Given the description of an element on the screen output the (x, y) to click on. 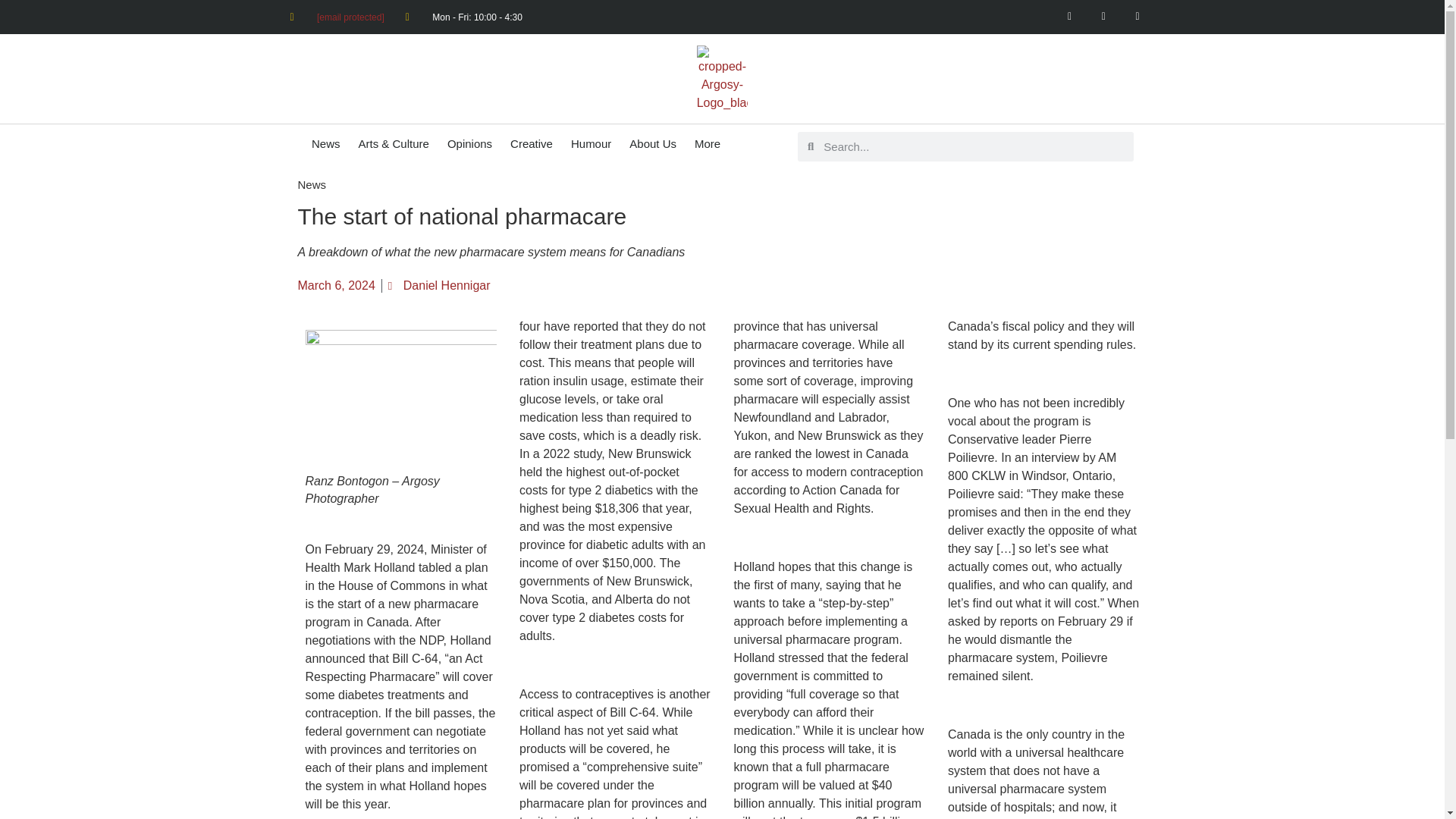
Humour (591, 143)
News (325, 143)
More (707, 143)
Daniel Hennigar (439, 285)
News (311, 184)
March 6, 2024 (335, 285)
Creative (531, 143)
About Us (652, 143)
Opinions (469, 143)
